Given the description of an element on the screen output the (x, y) to click on. 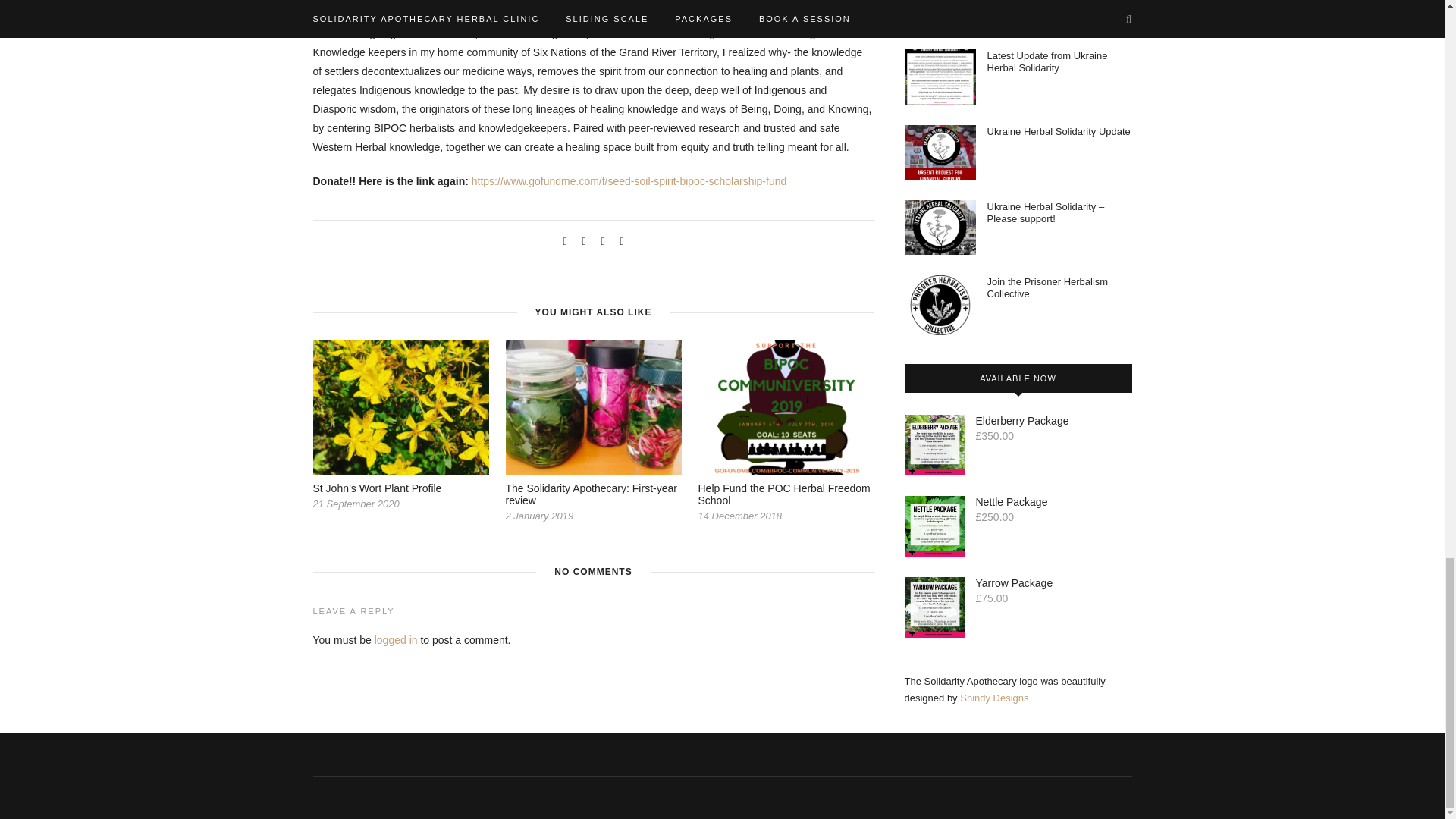
Ukraine Herbal Solidarity Update (1059, 131)
Help Fund the POC Herbal Freedom School (783, 494)
The Solidarity Apothecary: First-year review (591, 494)
Latest Update from Ukraine Herbal Solidarity (1047, 61)
logged in (395, 639)
